Given the description of an element on the screen output the (x, y) to click on. 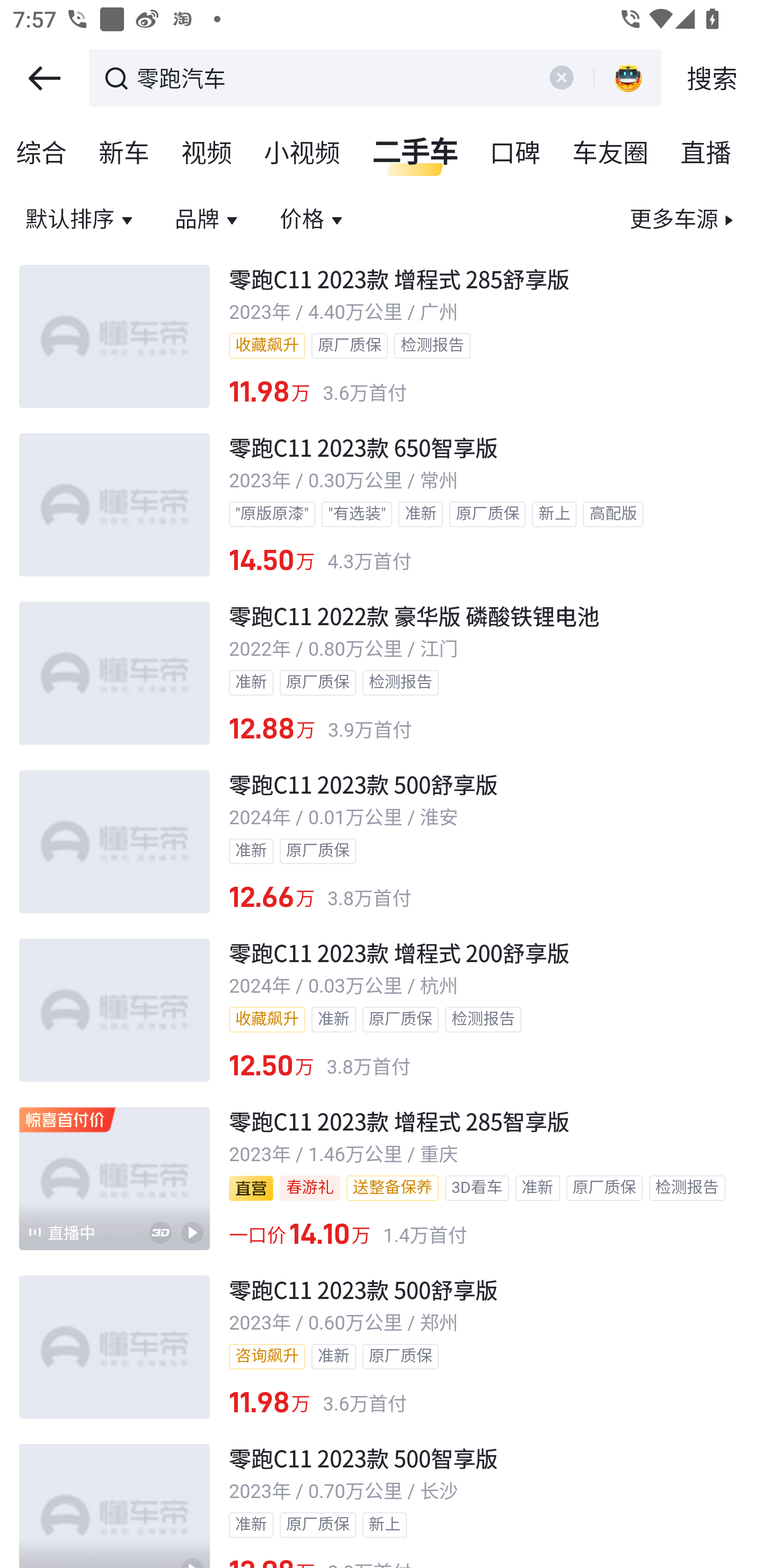
零跑汽车 (331, 76)
 (560, 77)
 (44, 78)
搜索 (711, 78)
综合 (41, 153)
新车 (124, 153)
视频 (207, 153)
小视频 (302, 153)
二手车 (415, 153)
口碑 (515, 153)
车友圈 (611, 153)
直播 (706, 153)
默认排序 (81, 220)
品牌 (208, 220)
价格 (313, 220)
更多车源 (682, 220)
